Given the description of an element on the screen output the (x, y) to click on. 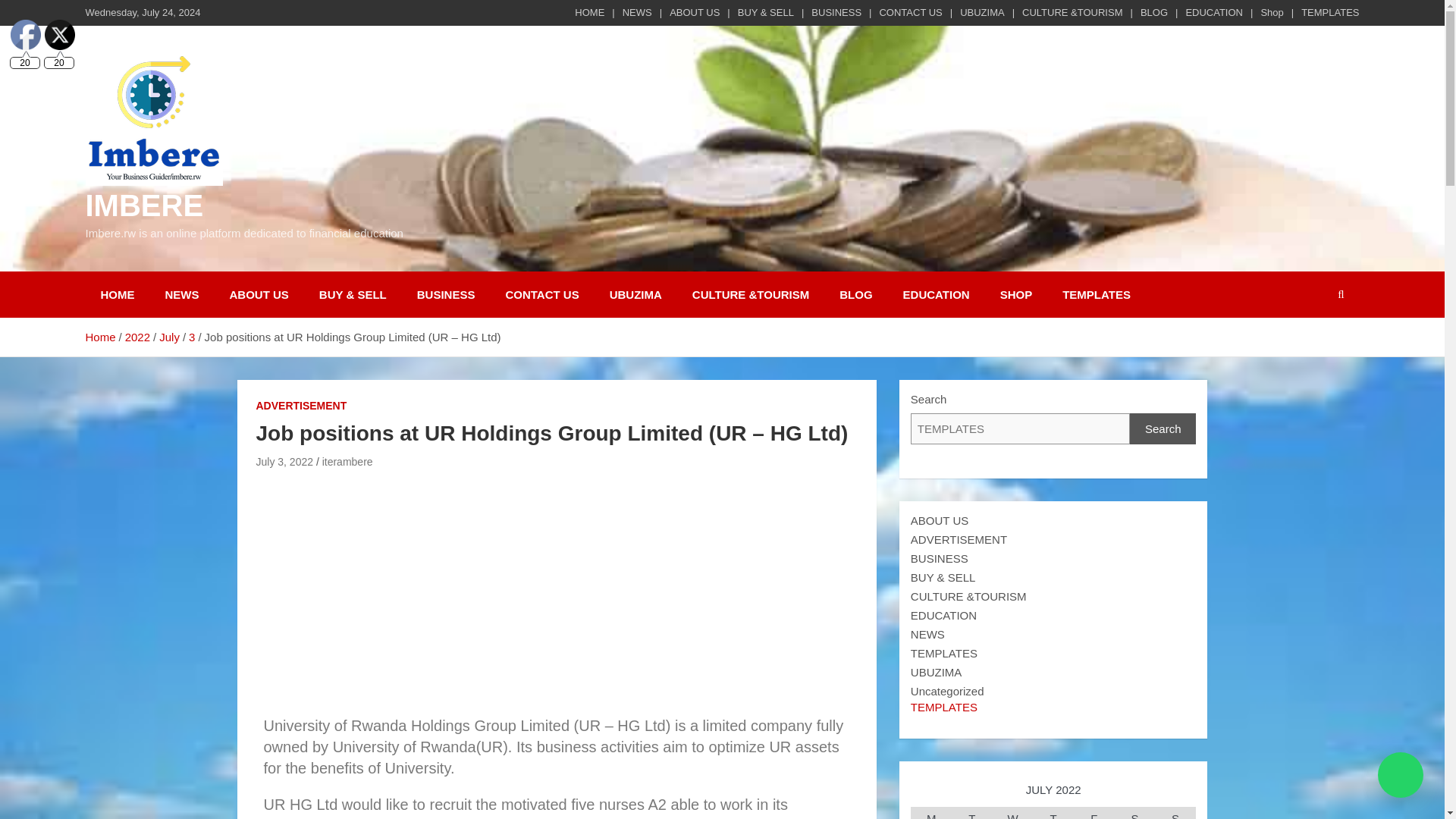
2022 (137, 336)
IMBERE (143, 205)
Saturday (1135, 813)
Home (99, 336)
SHOP (1016, 294)
ABOUT US (694, 12)
BLOG (855, 294)
Wednesday (1012, 813)
UBUZIMA (981, 12)
Monday (931, 813)
CONTACT US (541, 294)
BUSINESS (445, 294)
3 (192, 336)
iterambere (346, 461)
ADVERTISEMENT (301, 406)
